Given the description of an element on the screen output the (x, y) to click on. 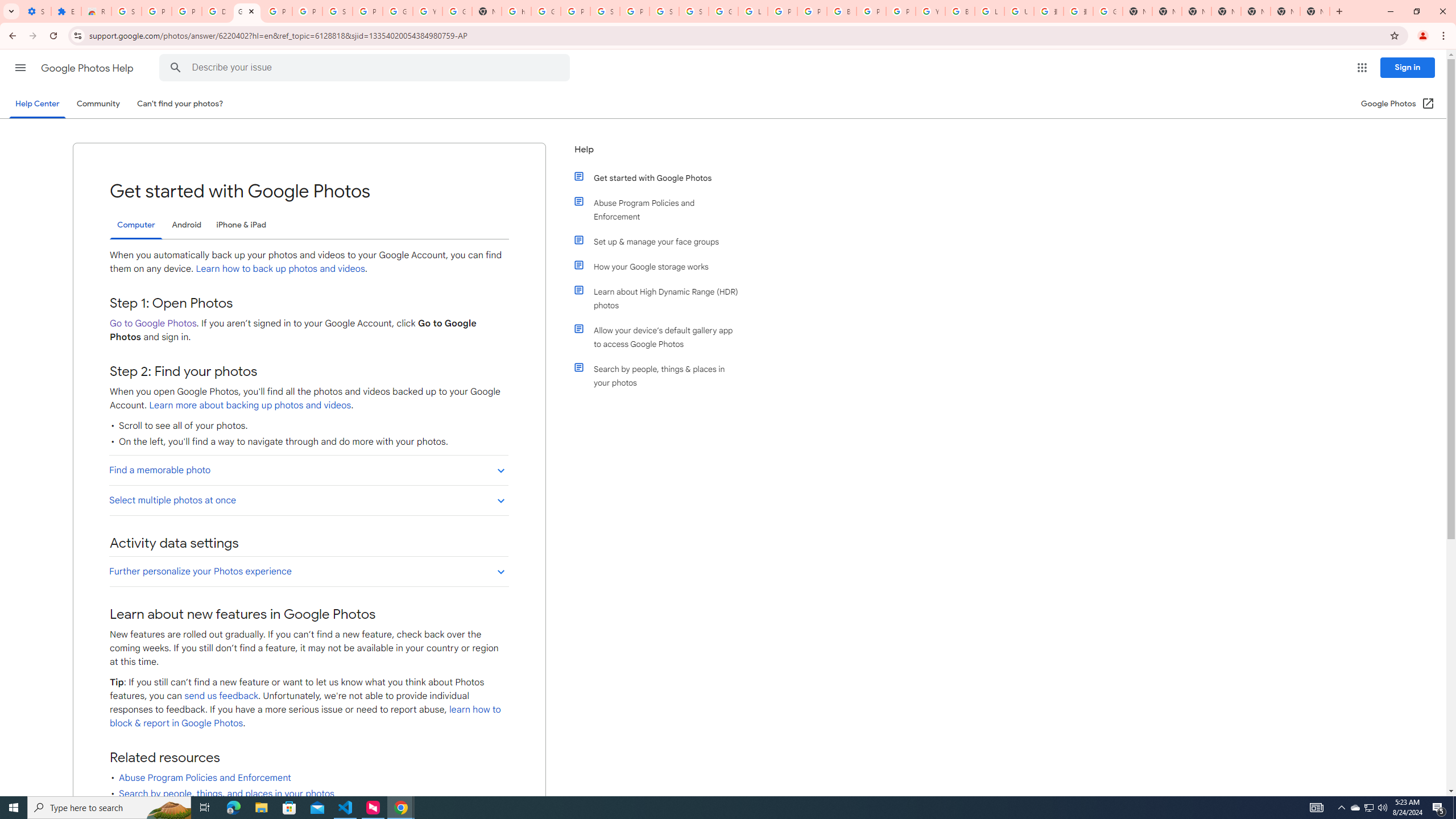
Sign in - Google Accounts (126, 11)
Set up & manage your face groups (661, 241)
iPhone & iPad (240, 224)
Sign in - Google Accounts (664, 11)
Sign in - Google Accounts (693, 11)
Privacy Help Center - Policies Help (811, 11)
learn how to block & report in Google Photos (304, 716)
